Given the description of an element on the screen output the (x, y) to click on. 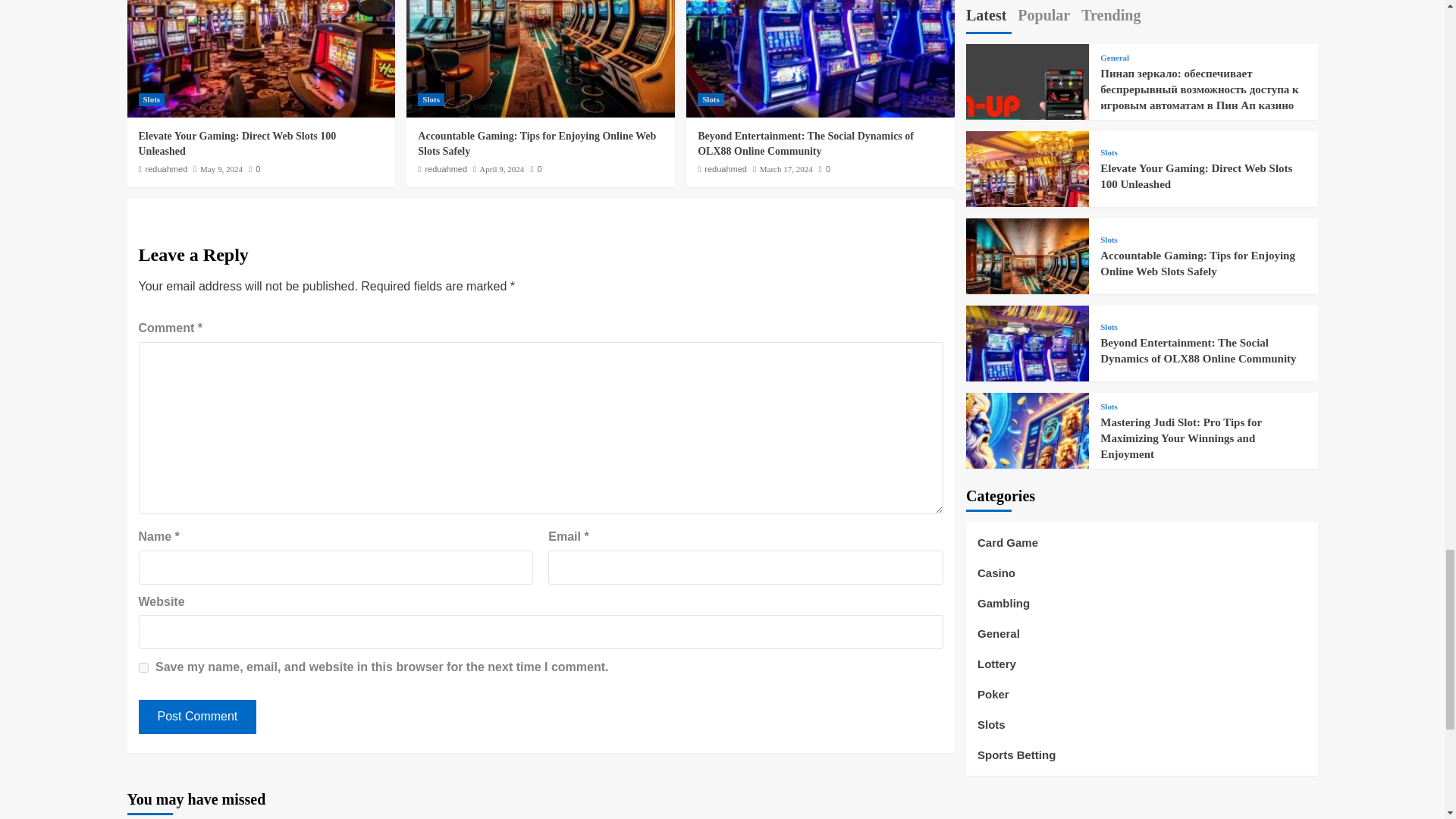
reduahmed (166, 168)
Elevate Your Gaming: Direct Web Slots 100 Unleashed (237, 143)
Slots (151, 99)
Post Comment (197, 716)
yes (143, 667)
0 (254, 168)
May 9, 2024 (221, 168)
